Given the description of an element on the screen output the (x, y) to click on. 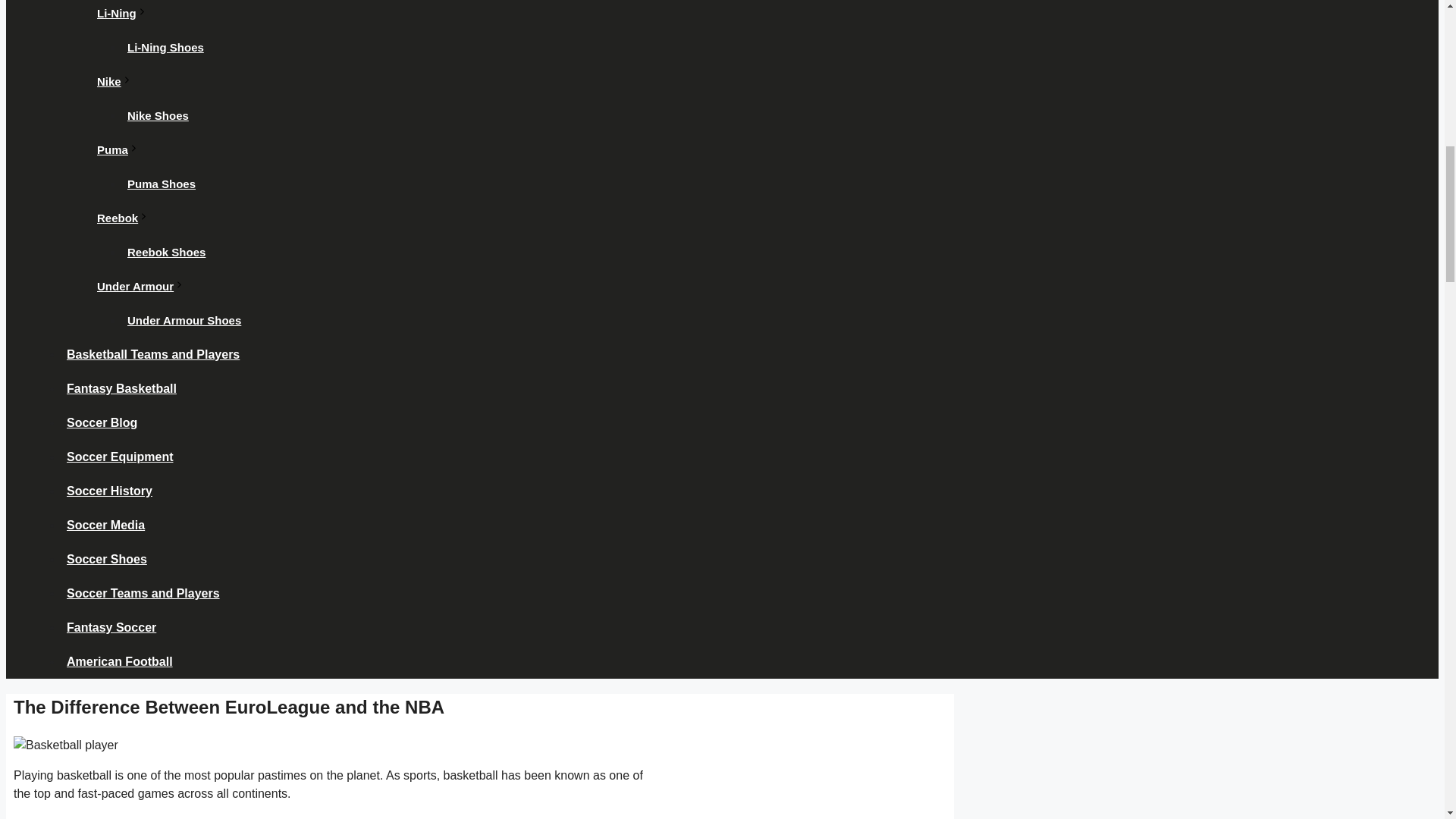
Under Armour (143, 285)
Fantasy Basketball (121, 388)
Reebok Shoes (165, 252)
Nike (117, 81)
Li-Ning Shoes (165, 47)
Soccer Equipment (119, 456)
Li-Ning (125, 13)
Puma (120, 149)
Nike Shoes (157, 115)
Soccer Blog (101, 422)
Under Armour Shoes (184, 320)
Basketball Teams and Players (153, 354)
Puma Shoes (161, 183)
Reebok (125, 217)
